Given the description of an element on the screen output the (x, y) to click on. 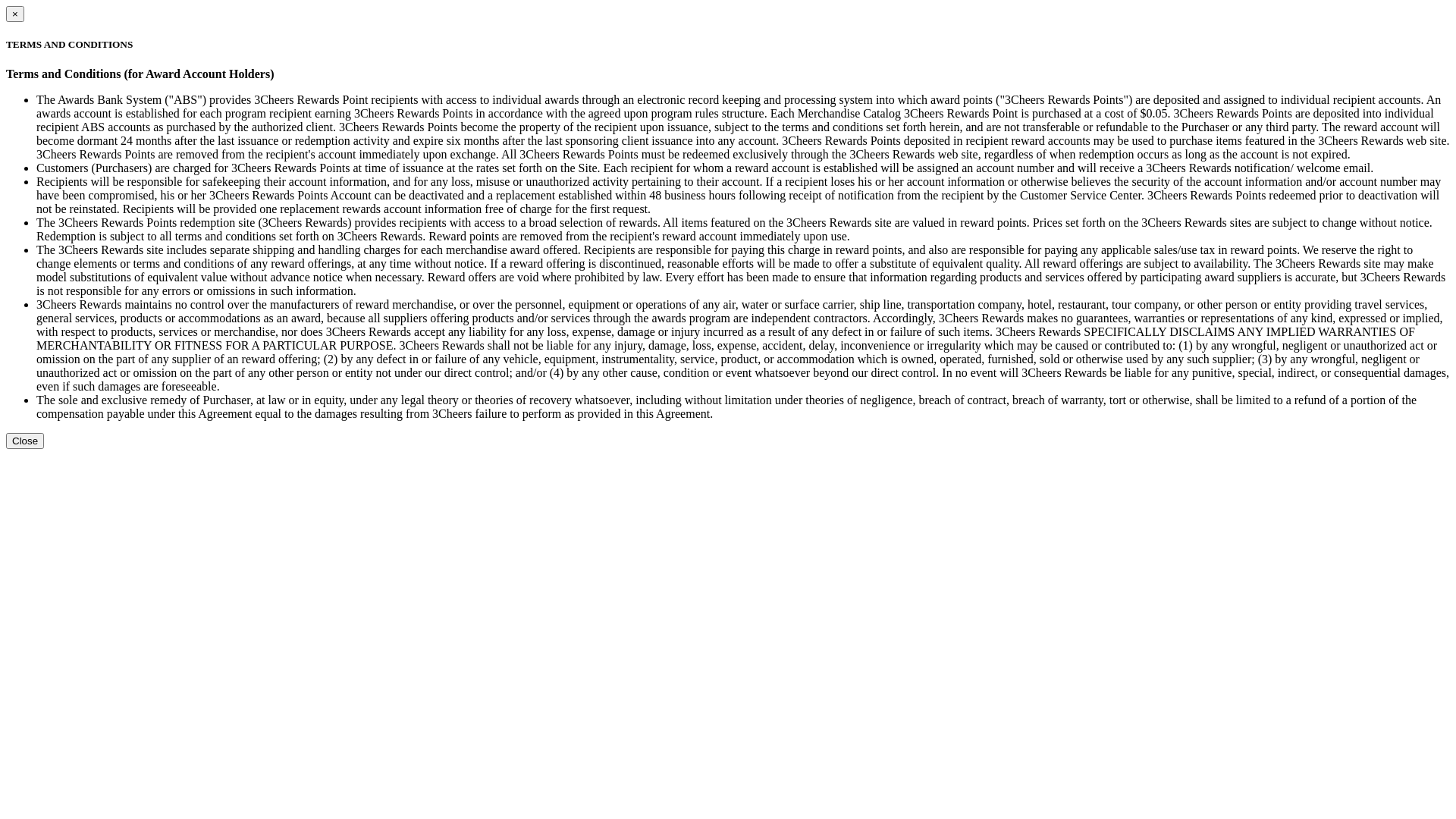
Close Element type: text (24, 440)
